Given the description of an element on the screen output the (x, y) to click on. 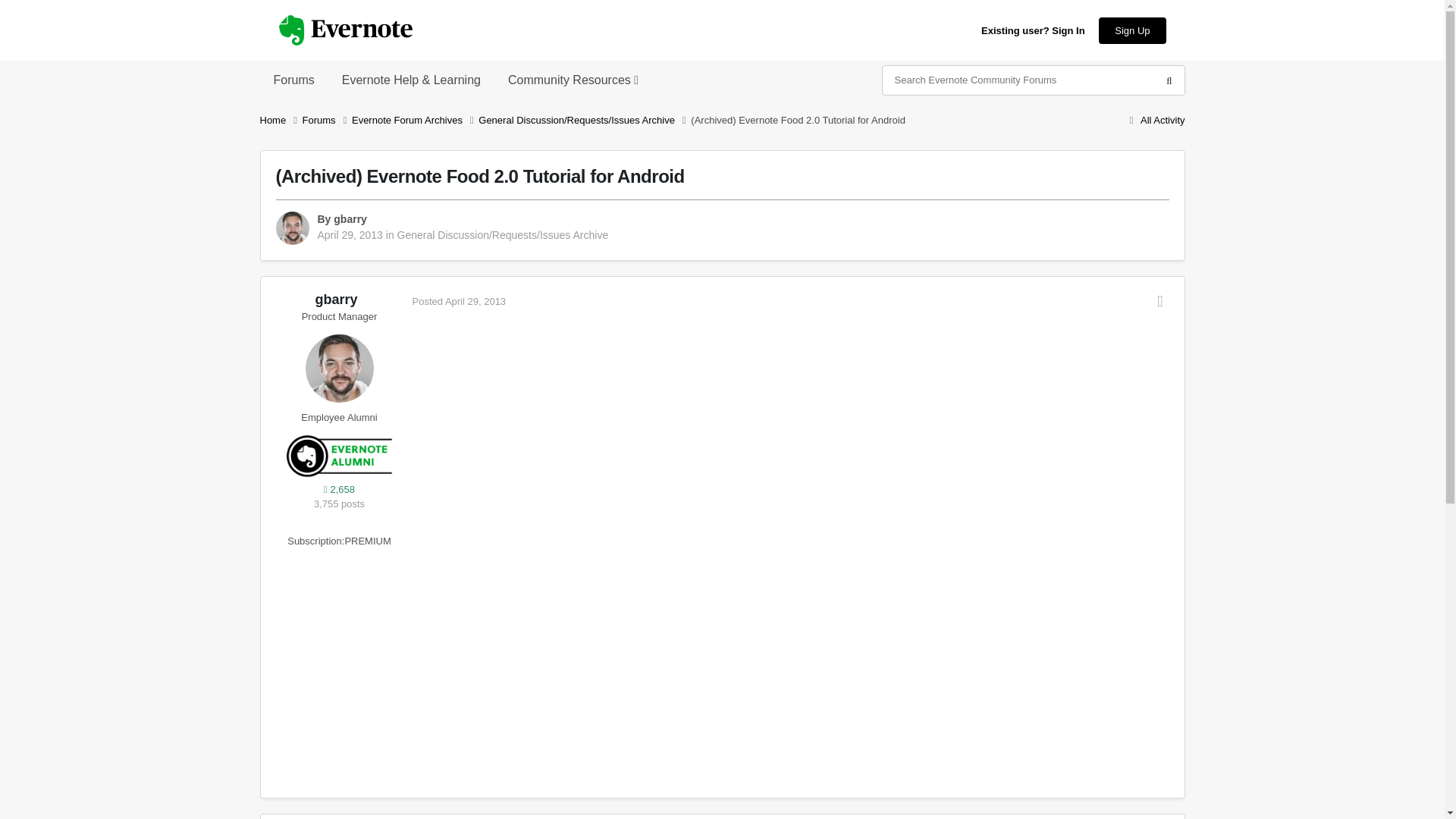
Home (280, 120)
gbarry (335, 299)
Go to gbarry's profile (349, 218)
Evernote Forum Archives (415, 120)
gbarry (349, 218)
Forums (293, 79)
Existing user? Sign In (1032, 30)
All Activity (1154, 120)
Member's total reputation (339, 489)
Go to gbarry's profile (338, 368)
More options... (1160, 300)
Forums (327, 120)
Posted April 29, 2013 (459, 301)
Go to gbarry's profile (292, 227)
Home (280, 120)
